Given the description of an element on the screen output the (x, y) to click on. 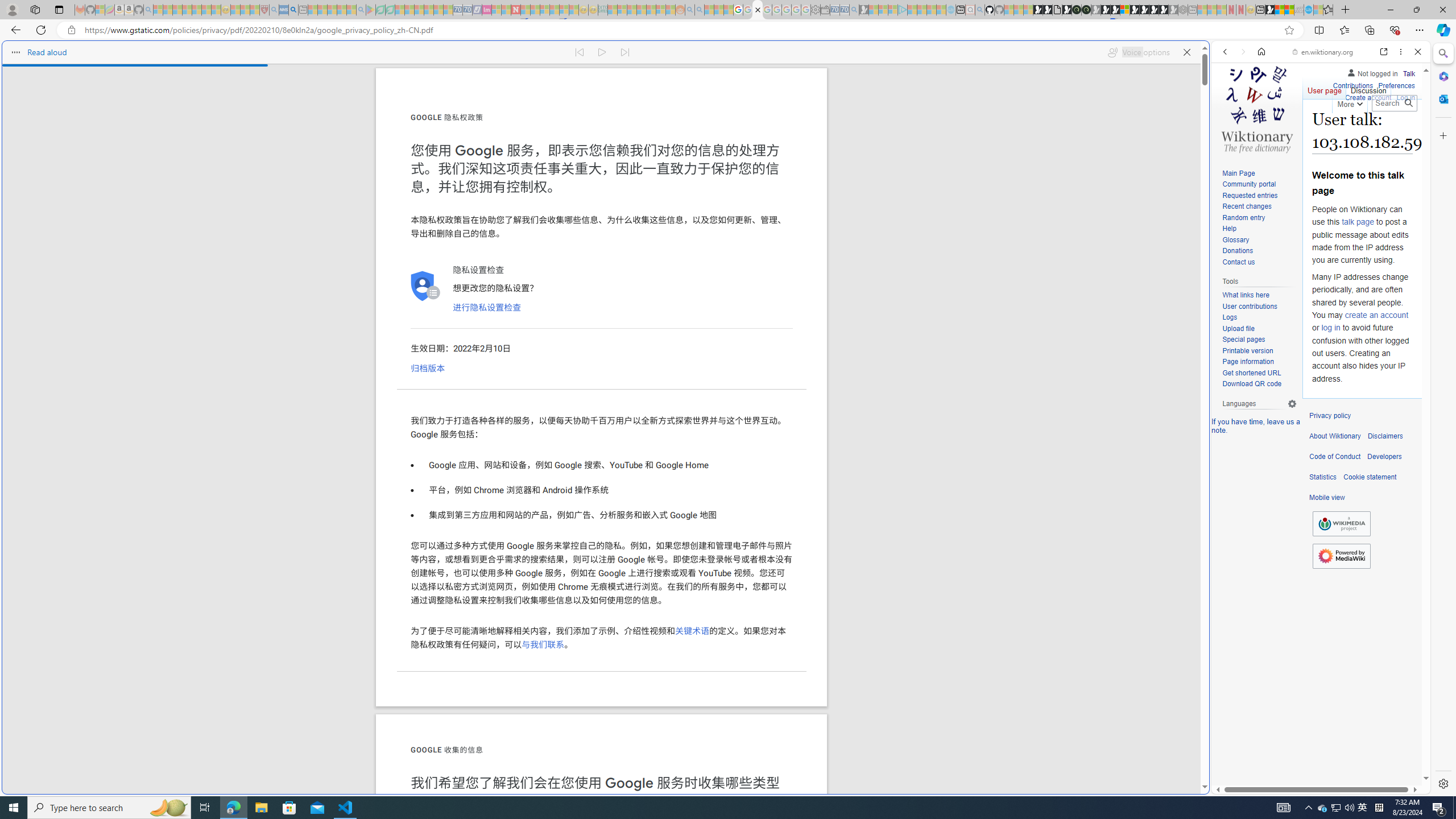
Recent changes (1246, 206)
Logs (1259, 317)
Logs (1229, 317)
Upload file (1238, 328)
Latest Politics News & Archive | Newsweek.com - Sleeping (515, 9)
Discussion (1367, 87)
Future Focus Report 2024 (1085, 9)
